Given the description of an element on the screen output the (x, y) to click on. 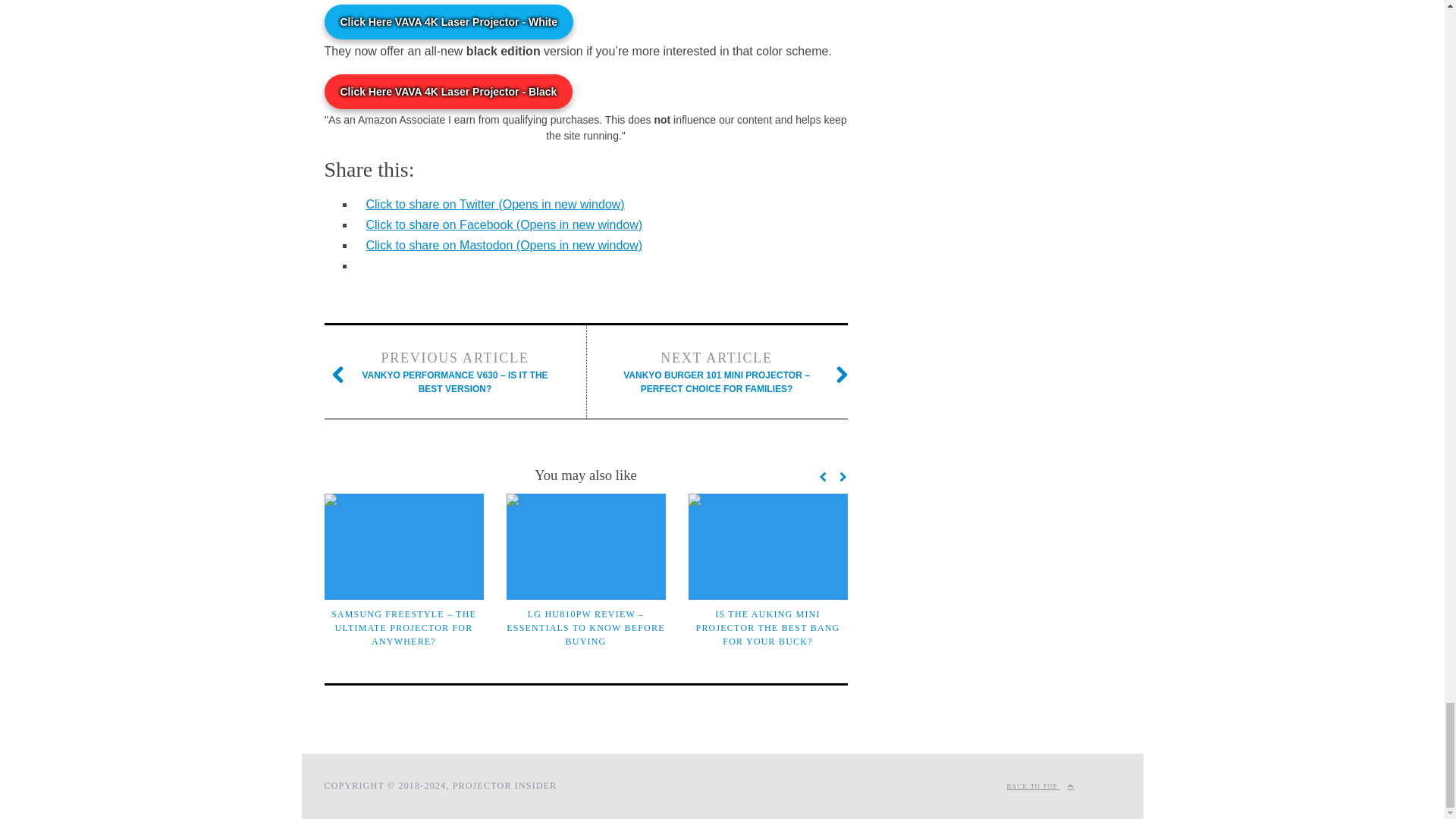
Click to share on Twitter (494, 204)
